Given the description of an element on the screen output the (x, y) to click on. 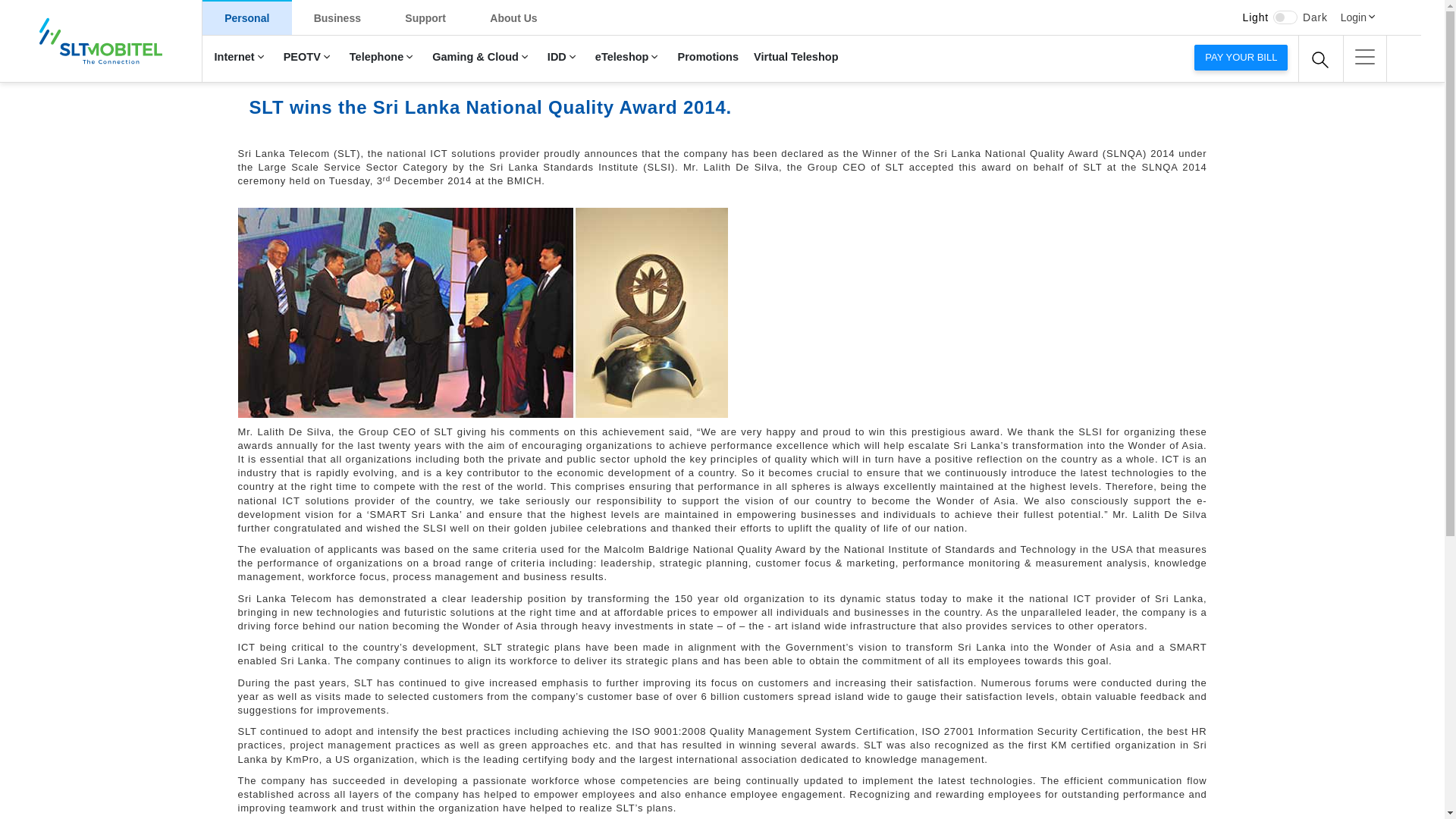
Personal (247, 17)
Internet (240, 57)
on (1284, 17)
